Given the description of an element on the screen output the (x, y) to click on. 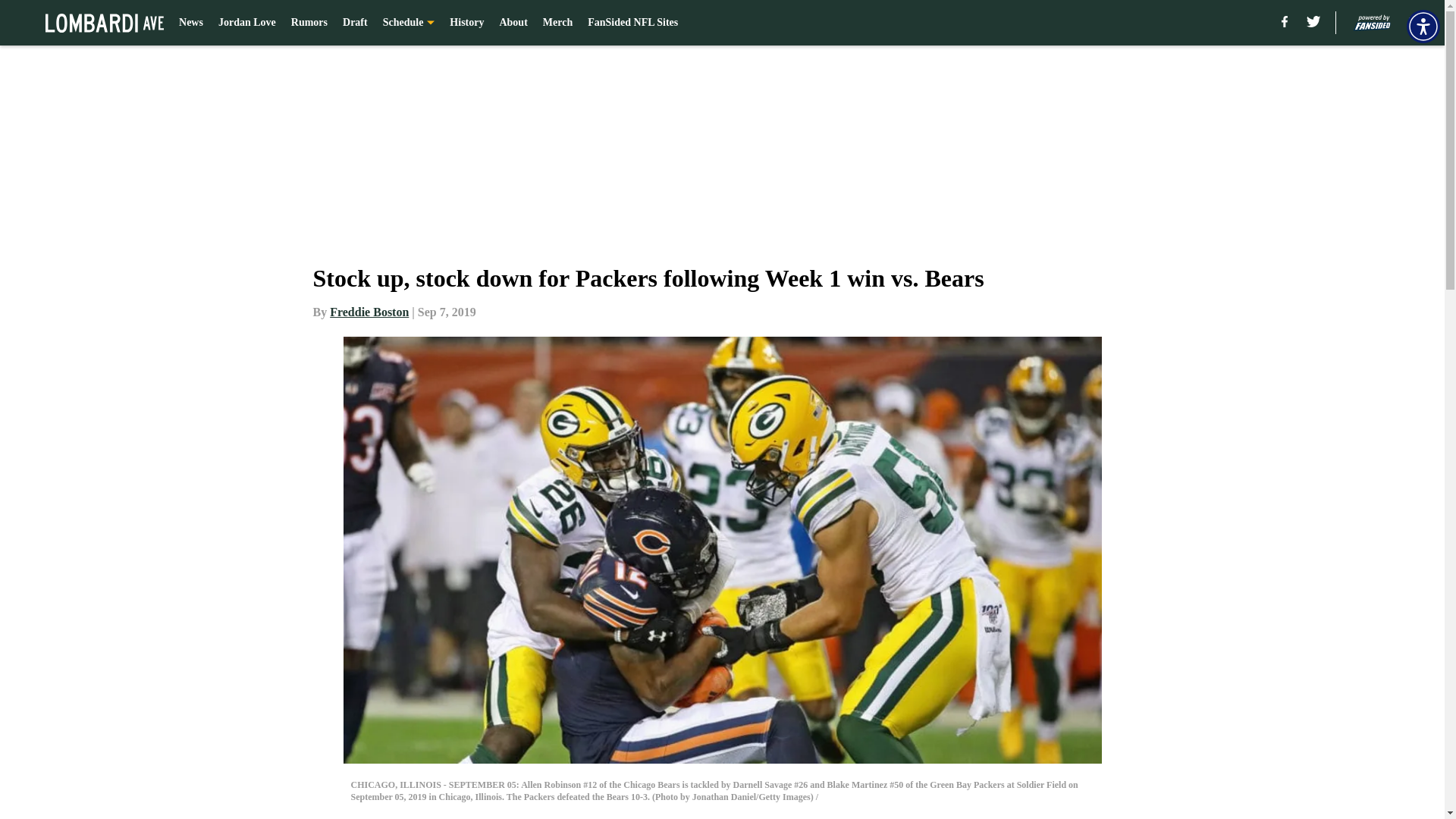
Draft (355, 22)
Rumors (309, 22)
Freddie Boston (369, 311)
News (191, 22)
History (466, 22)
About (513, 22)
Merch (557, 22)
Accessibility Menu (1422, 26)
FanSided NFL Sites (633, 22)
Jordan Love (247, 22)
